Given the description of an element on the screen output the (x, y) to click on. 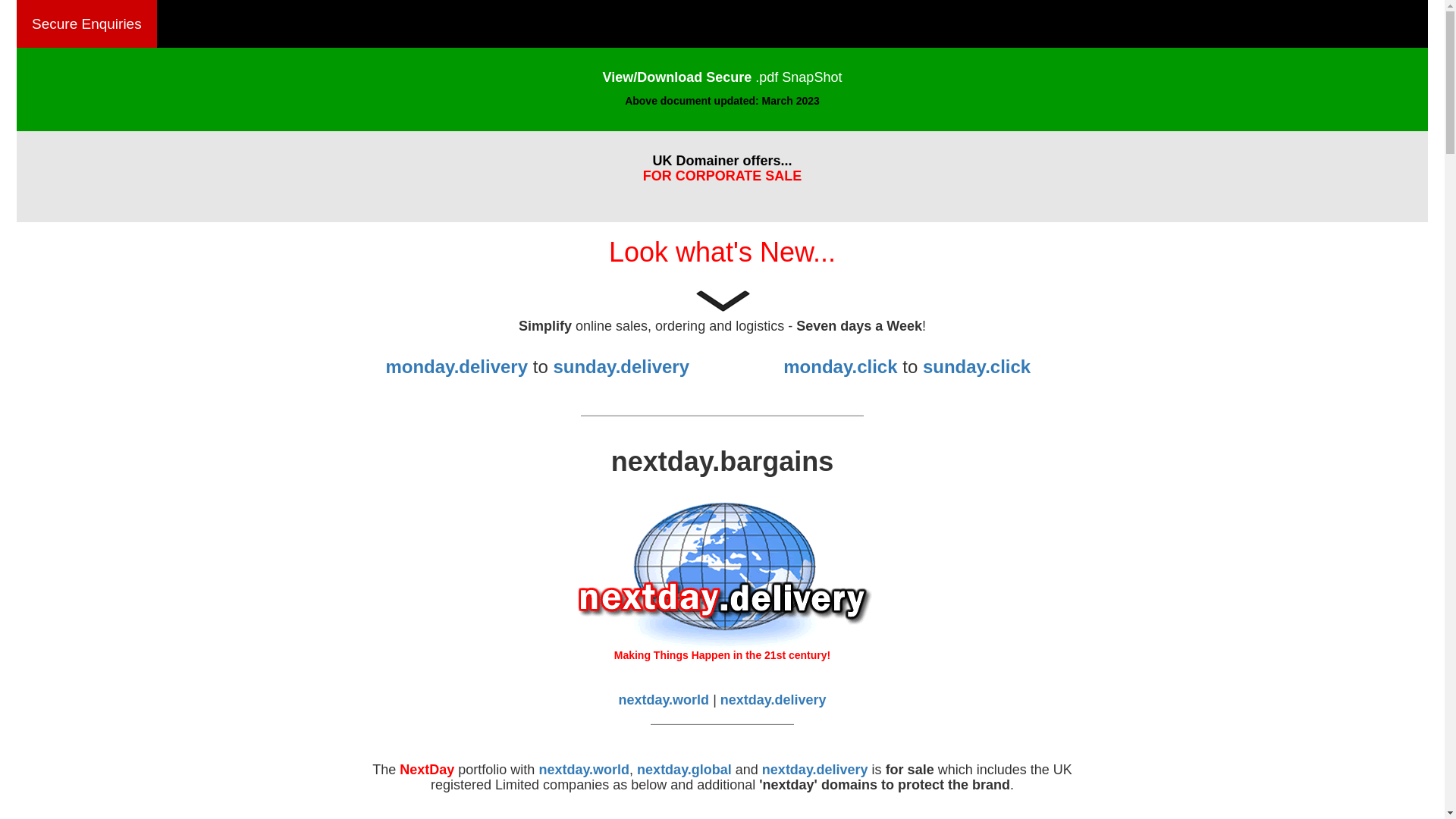
View/Download Secure .pdf SnapShot Element type: text (722, 76)
nextday.delivery Element type: text (815, 769)
sunday.delivery Element type: text (620, 366)
nextday.global Element type: text (684, 769)
monday.delivery Element type: text (456, 366)
monday.click Element type: text (840, 366)
nextday.delivery Element type: text (773, 699)
nextday.world Element type: text (663, 699)
nextday.world Element type: text (583, 769)
Secure Enquiries Element type: text (86, 23)
sunday.click Element type: text (976, 366)
